Given the description of an element on the screen output the (x, y) to click on. 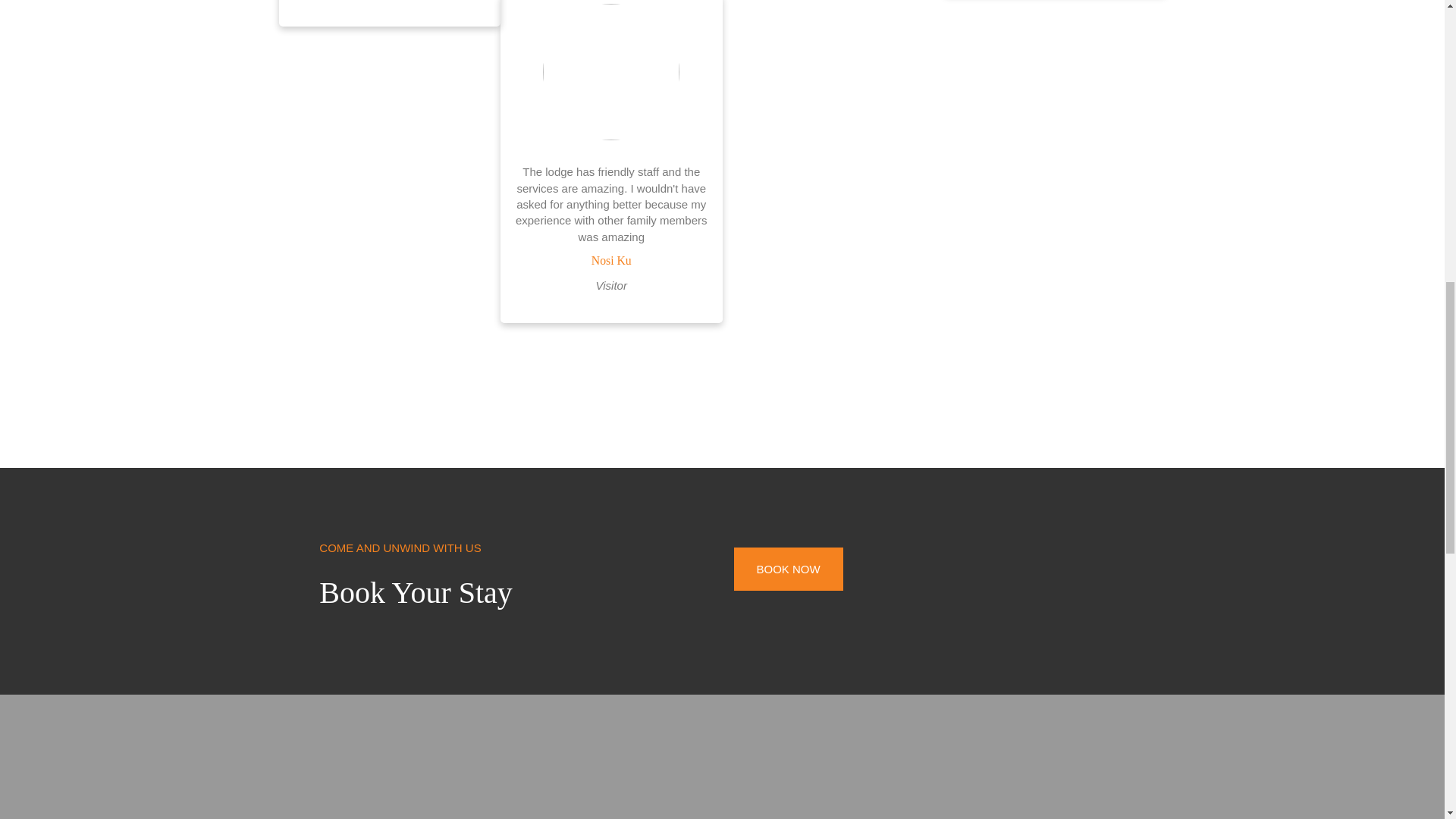
BOOK NOW (788, 552)
